Given the description of an element on the screen output the (x, y) to click on. 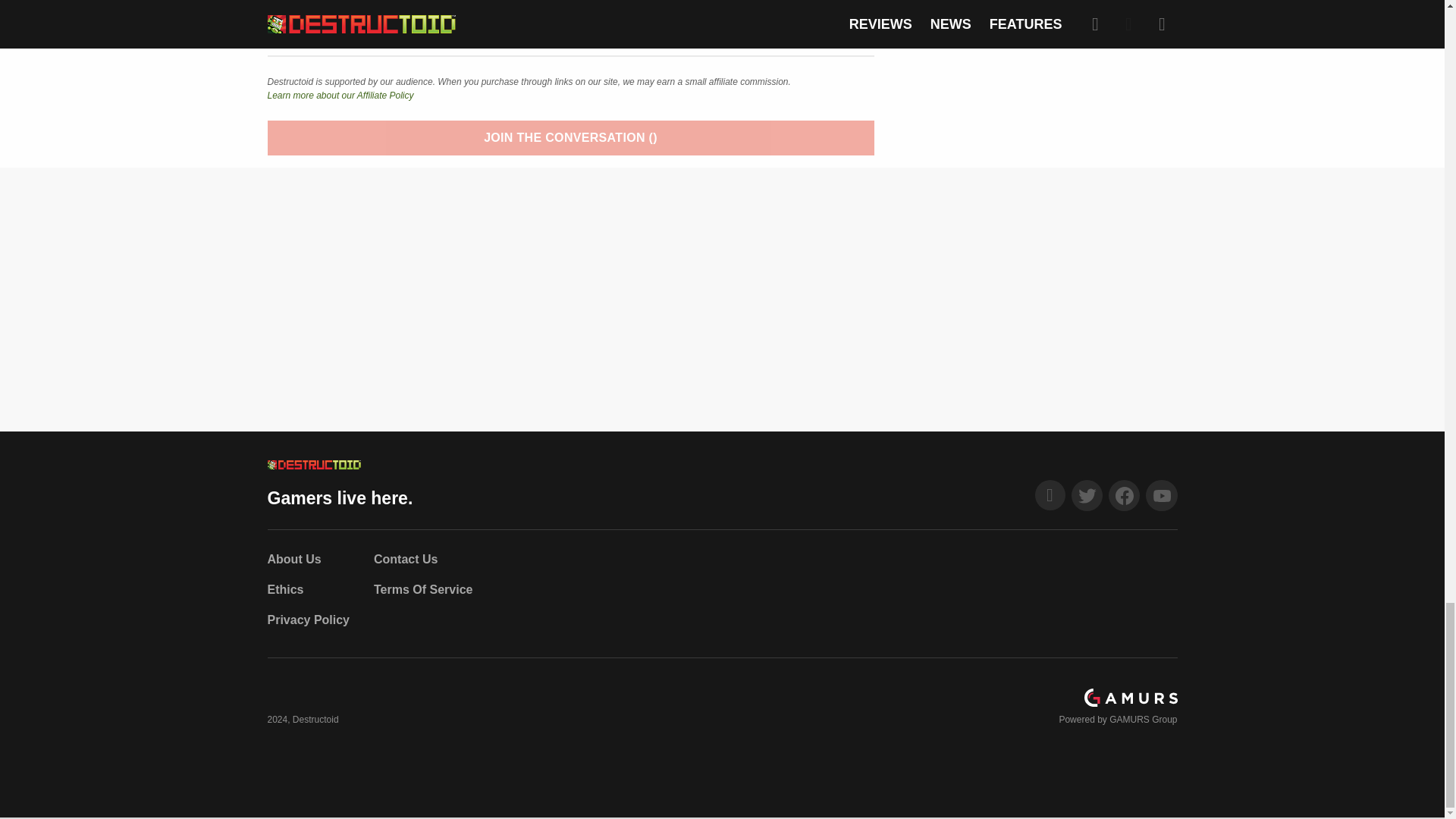
MOTHER 3 (302, 25)
